Given the description of an element on the screen output the (x, y) to click on. 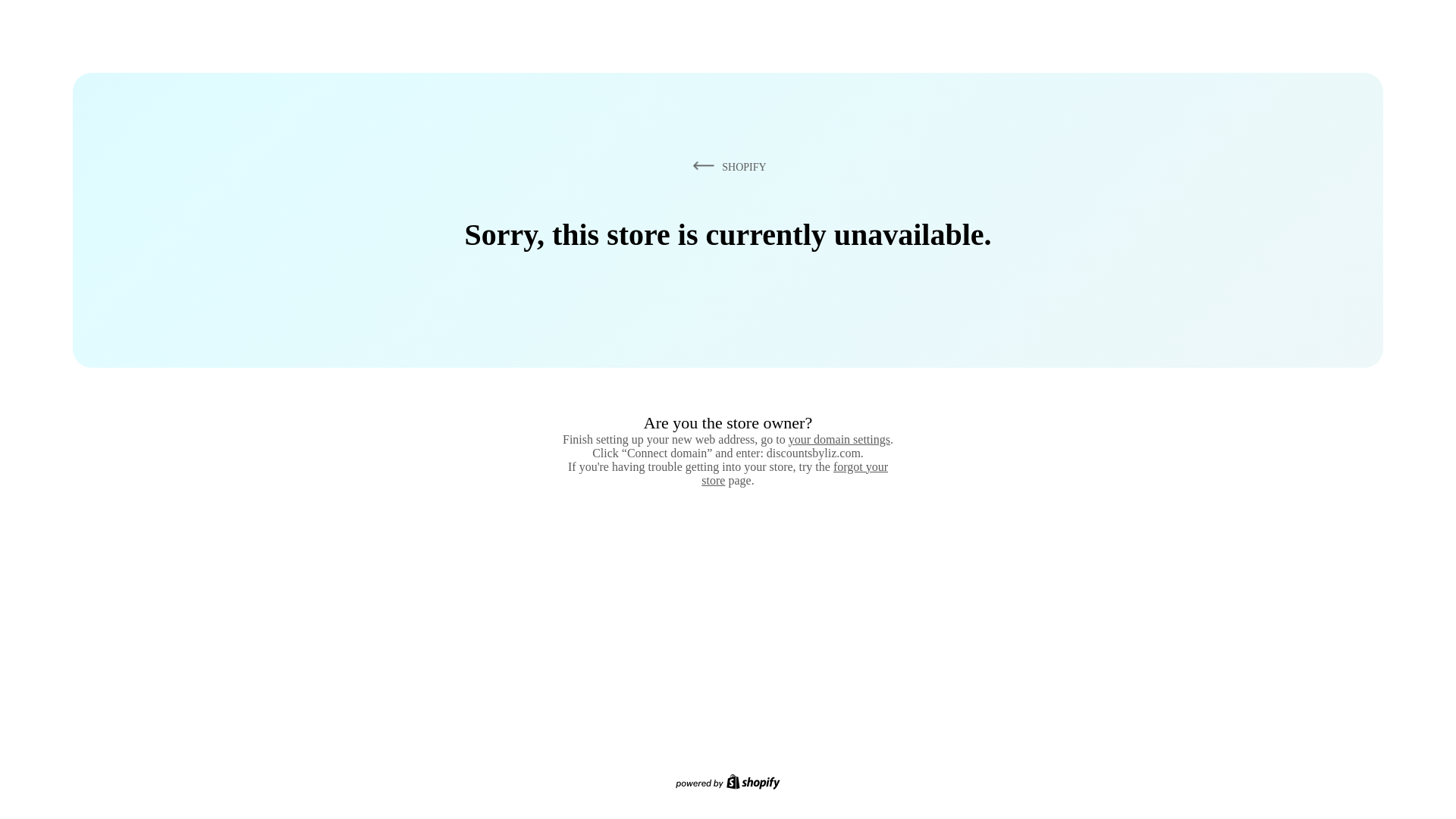
SHOPIFY (726, 166)
your domain settings (839, 439)
forgot your store (794, 473)
